Given the description of an element on the screen output the (x, y) to click on. 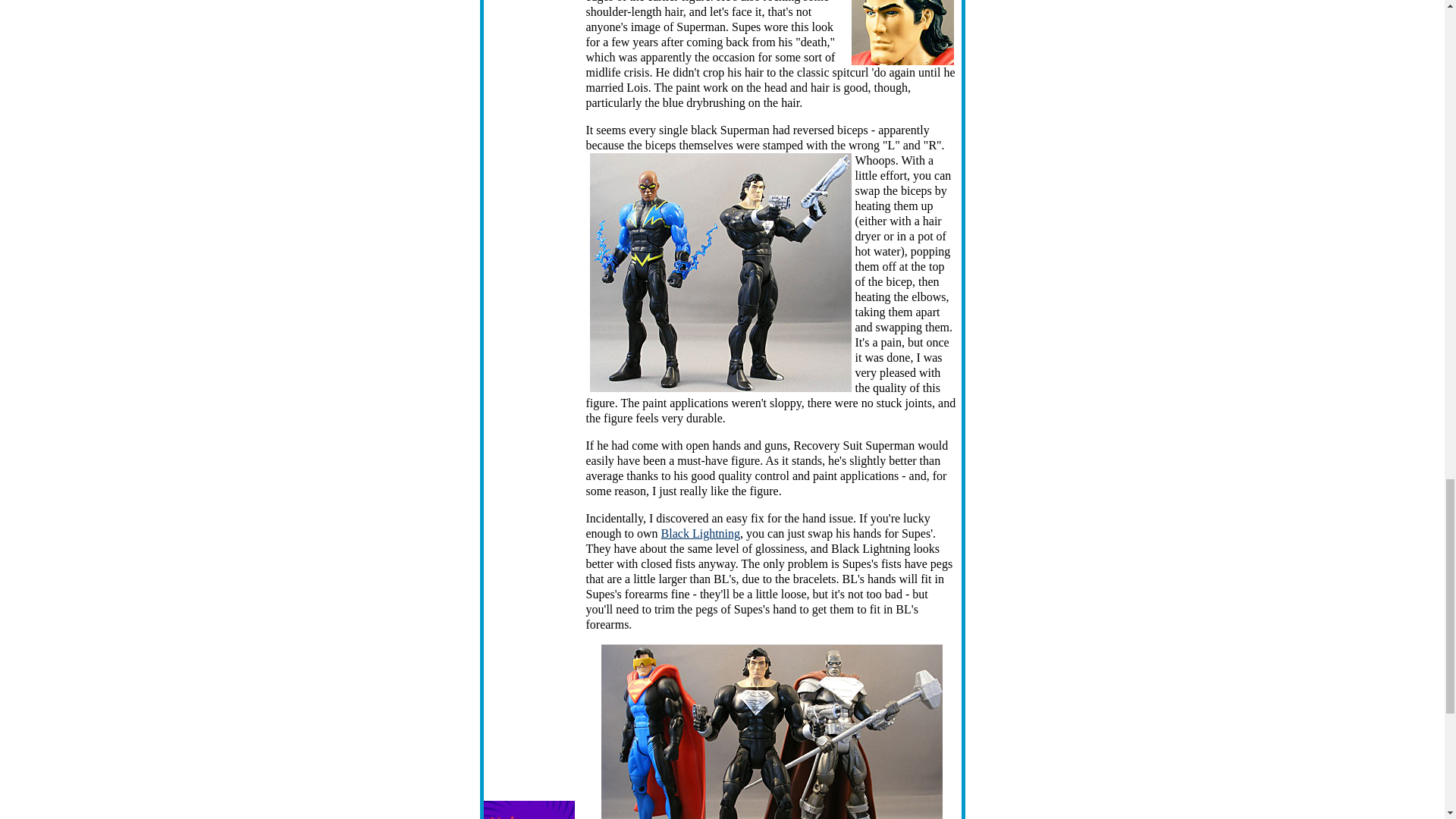
Supermullet (901, 32)
much-improved (720, 272)
almost there... (770, 731)
